Given the description of an element on the screen output the (x, y) to click on. 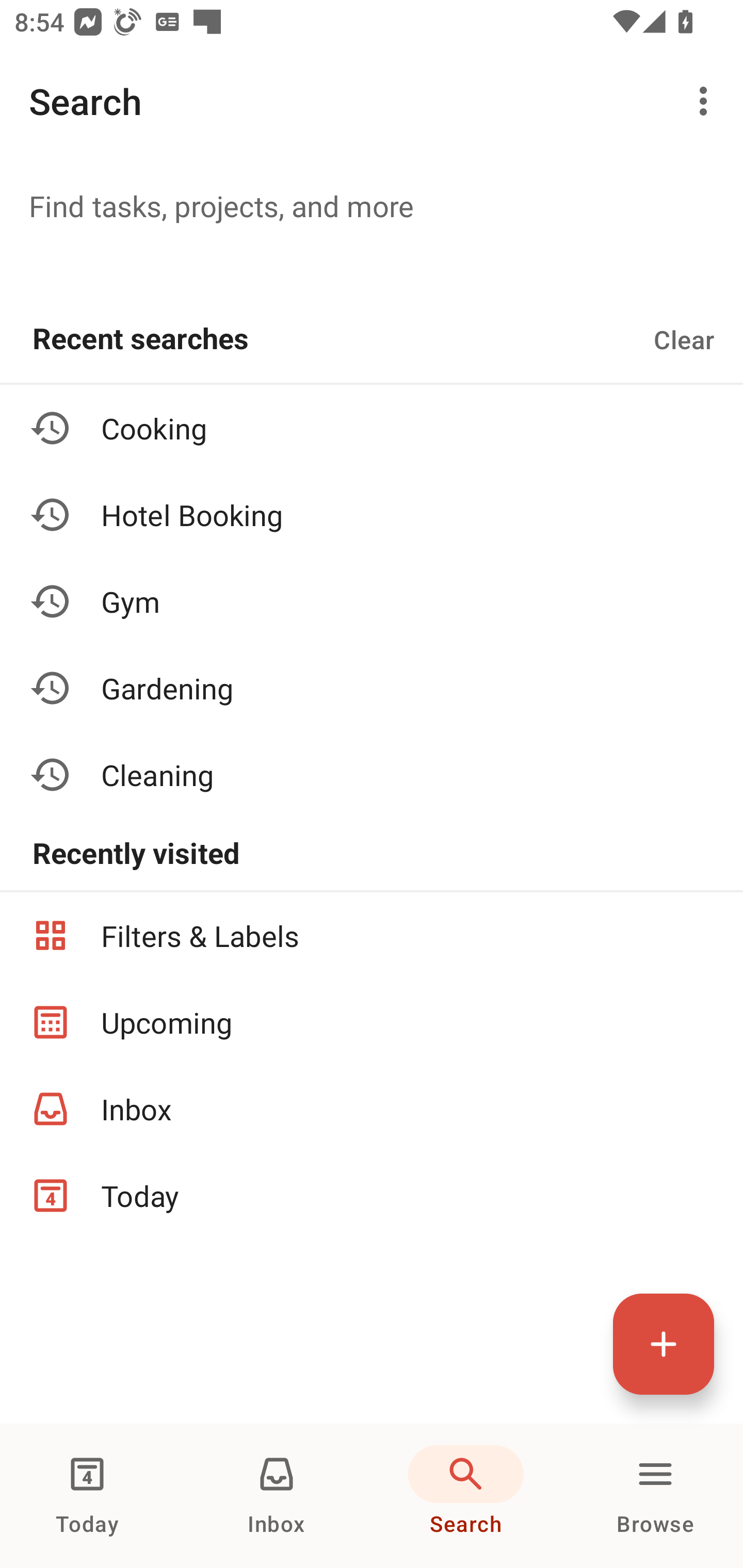
Search More options (371, 100)
More options (706, 101)
Find tasks, projects, and more (371, 205)
Clear (683, 339)
Cooking (371, 427)
Hotel Booking (371, 514)
Gym (371, 601)
Gardening (371, 687)
Cleaning (371, 774)
Filters & Labels (371, 935)
Upcoming (371, 1022)
Inbox (371, 1109)
Today (371, 1195)
Quick add (663, 1343)
Today (87, 1495)
Inbox (276, 1495)
Browse (655, 1495)
